Given the description of an element on the screen output the (x, y) to click on. 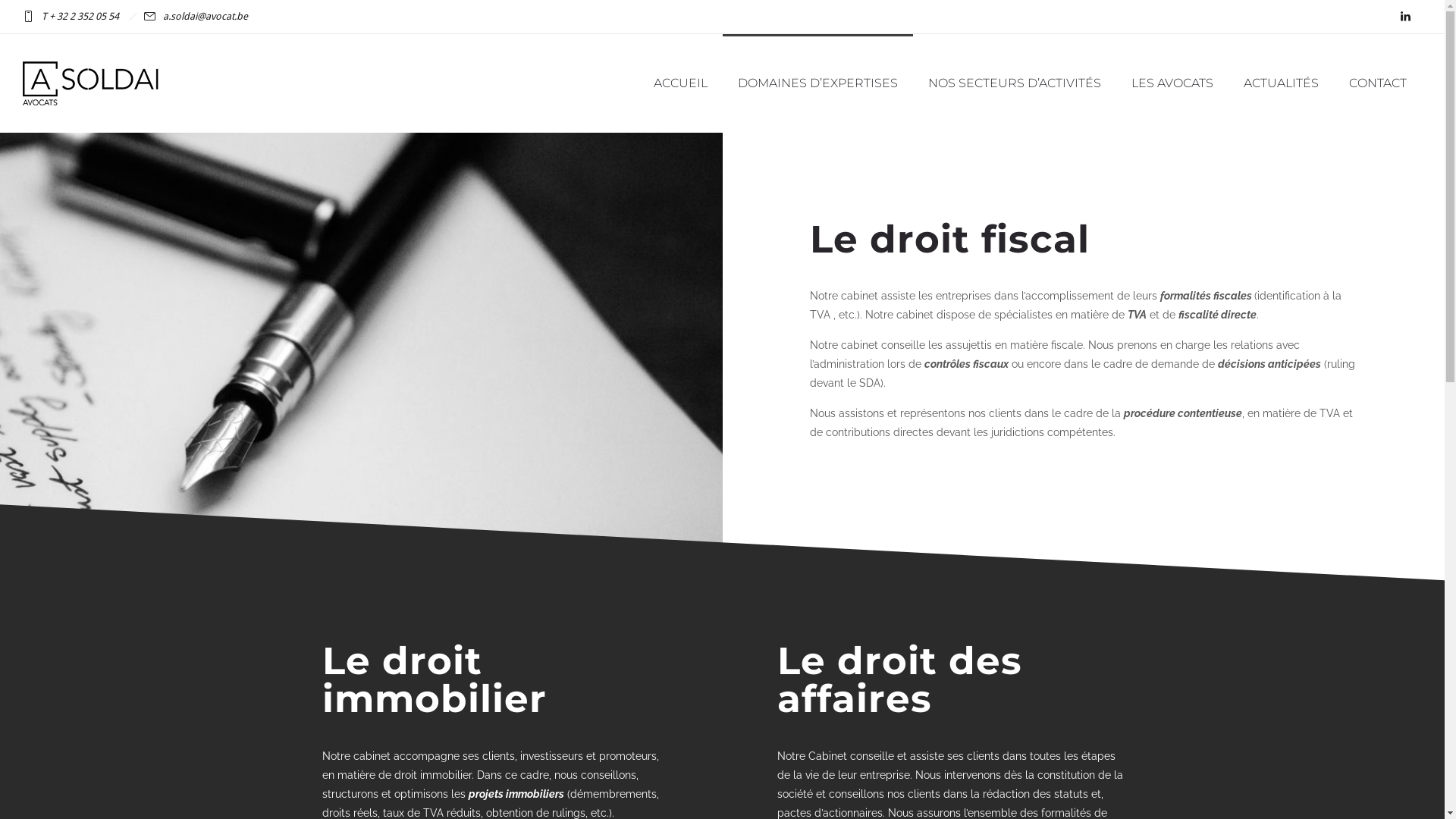
CONTACT Element type: text (1377, 83)
ACCUEIL Element type: text (680, 83)
LES AVOCATS Element type: text (1172, 83)
LinkedIN Element type: hover (1404, 16)
